Given the description of an element on the screen output the (x, y) to click on. 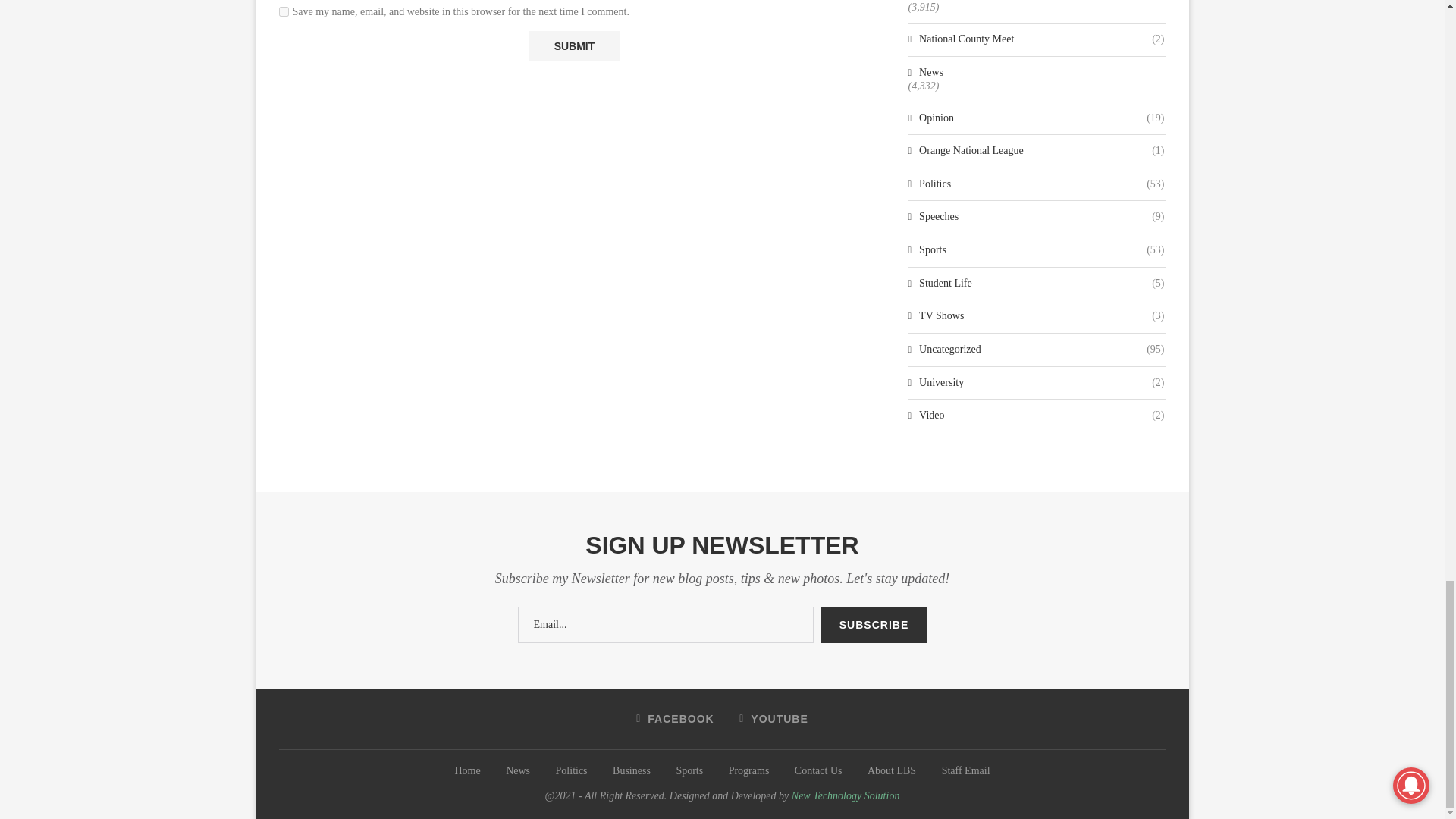
Submit (574, 46)
yes (283, 11)
Subscribe (873, 624)
